Given the description of an element on the screen output the (x, y) to click on. 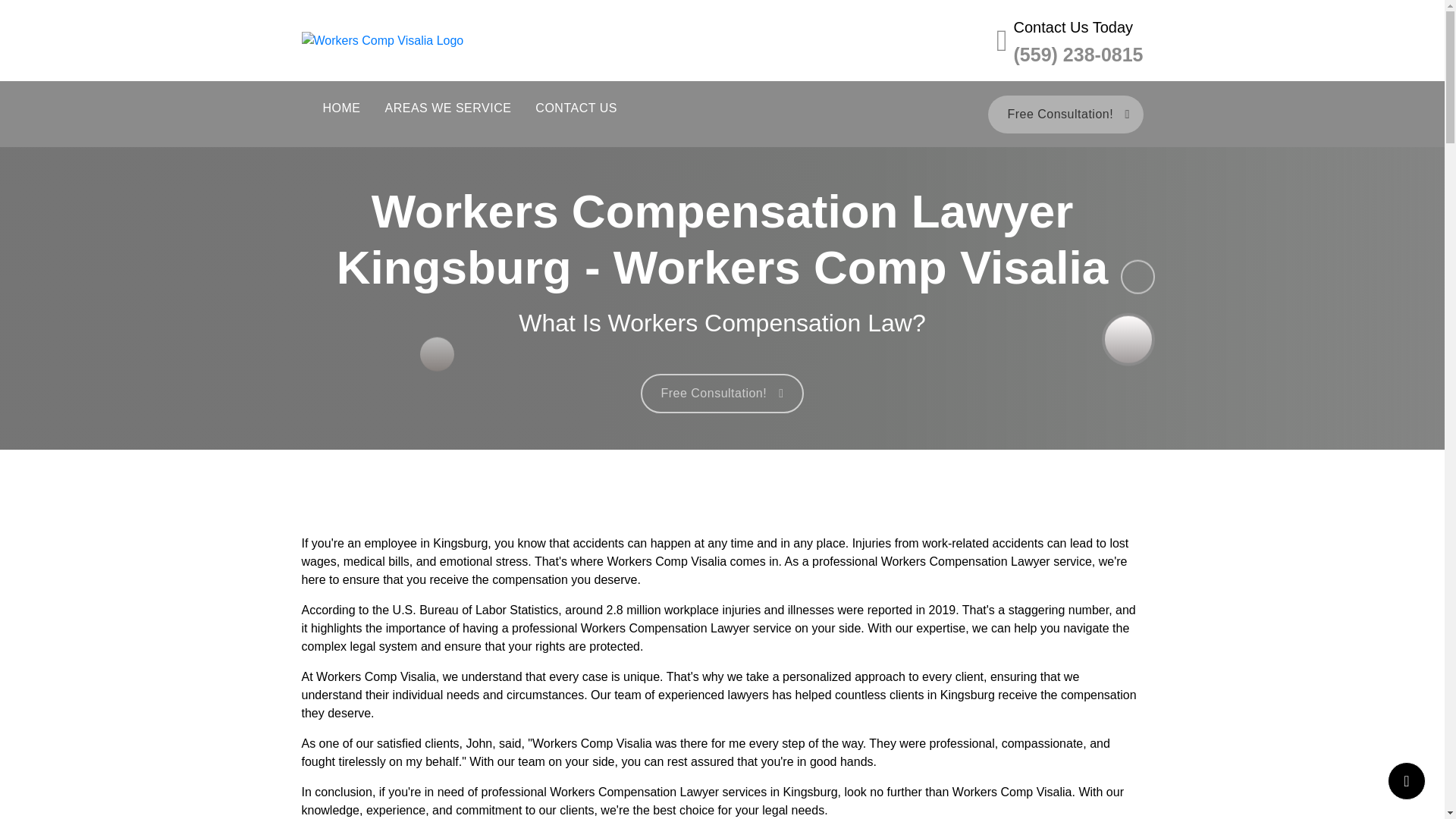
AREAS WE SERVICE (448, 108)
Free Consultation! (721, 393)
HOME (341, 108)
Free Consultation! (1065, 114)
CONTACT US (576, 108)
